Given the description of an element on the screen output the (x, y) to click on. 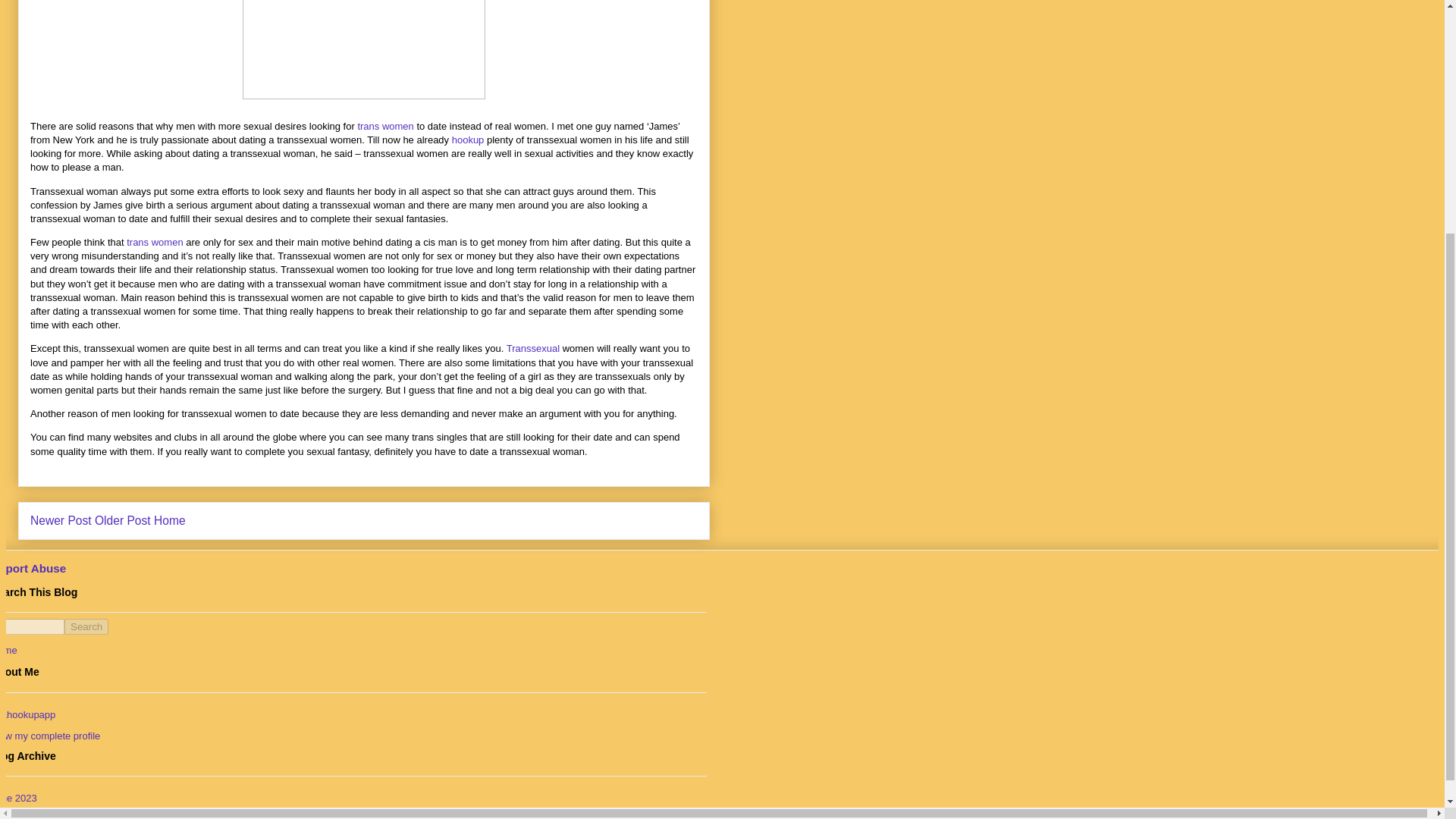
Search (85, 626)
Search (85, 626)
Home (8, 650)
trans women (384, 125)
trans women (154, 242)
nsahookupapp (27, 714)
Older Post (122, 520)
search (32, 626)
Older Post (122, 520)
Search (85, 626)
June 2023 (18, 797)
Transsexual (534, 348)
search (85, 626)
Home (170, 520)
View my complete profile (50, 736)
